Given the description of an element on the screen output the (x, y) to click on. 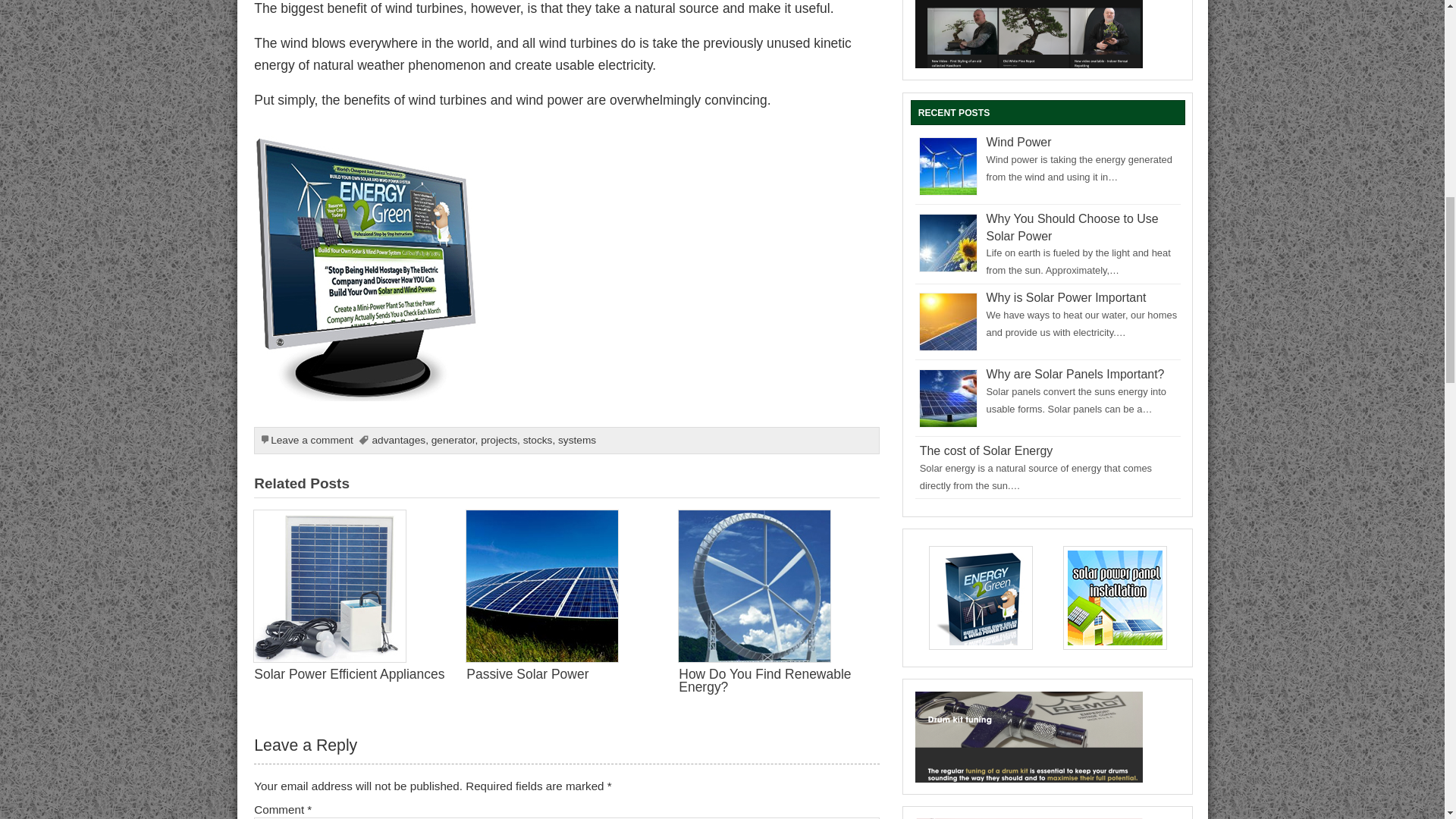
systems (576, 439)
Leave a comment (311, 439)
How Do You Find Renewable Energy? (764, 680)
Build Your Own Wind and Solar Energy (367, 145)
Wind Power (1019, 141)
Passive Solar Power (526, 673)
stocks (537, 439)
projects (498, 439)
generator (453, 439)
Solar Power Efficient Appliances (348, 673)
Why You Should Choose to Use Solar Power (1072, 227)
advantages (398, 439)
